Given the description of an element on the screen output the (x, y) to click on. 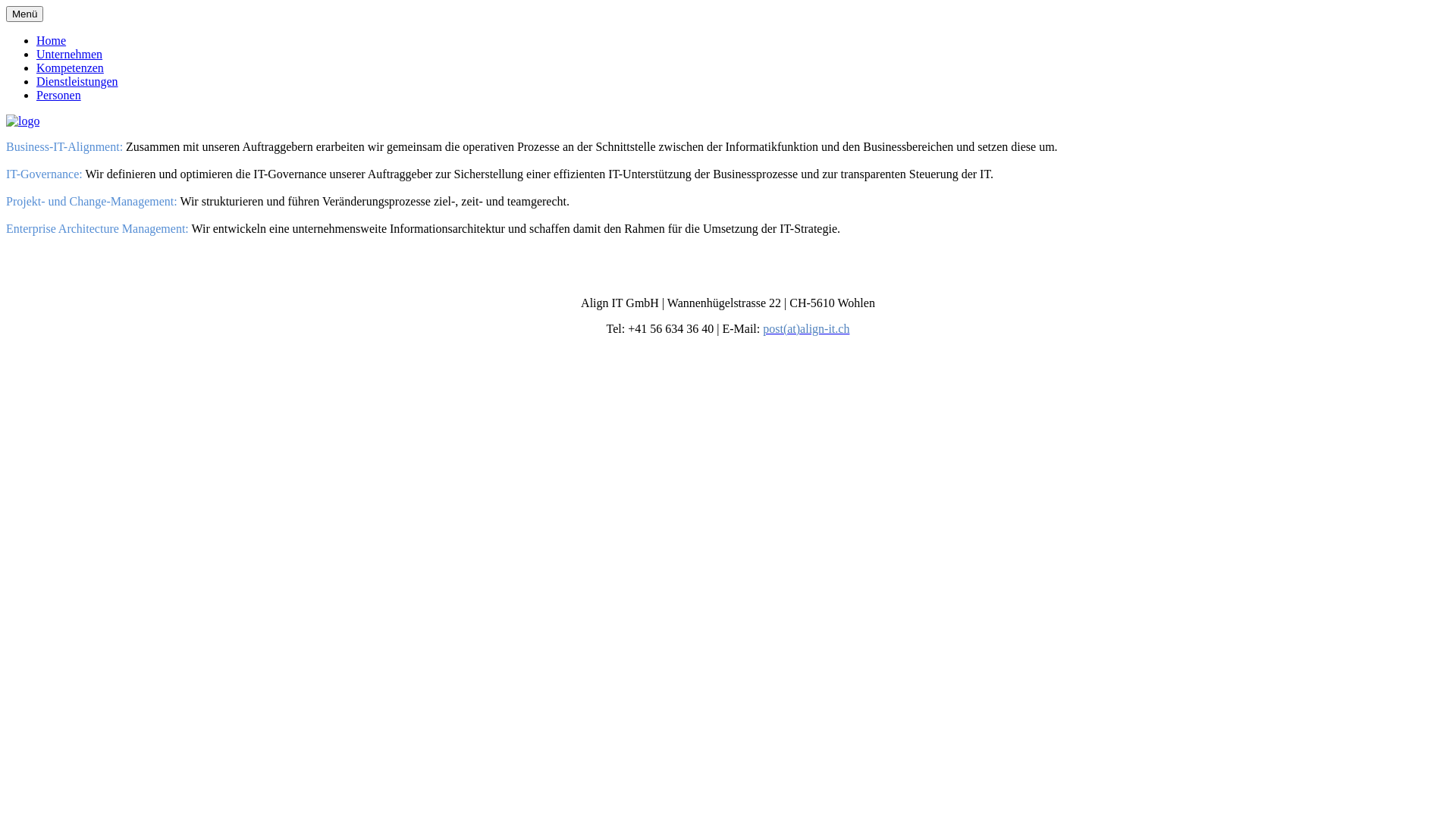
Dienstleistungen Element type: text (77, 81)
Unternehmen Element type: text (69, 53)
post(at)align-it.ch Element type: text (805, 328)
Personen Element type: text (58, 94)
Home Element type: text (50, 40)
logo Element type: hover (22, 121)
Kompetenzen Element type: text (69, 67)
